Given the description of an element on the screen output the (x, y) to click on. 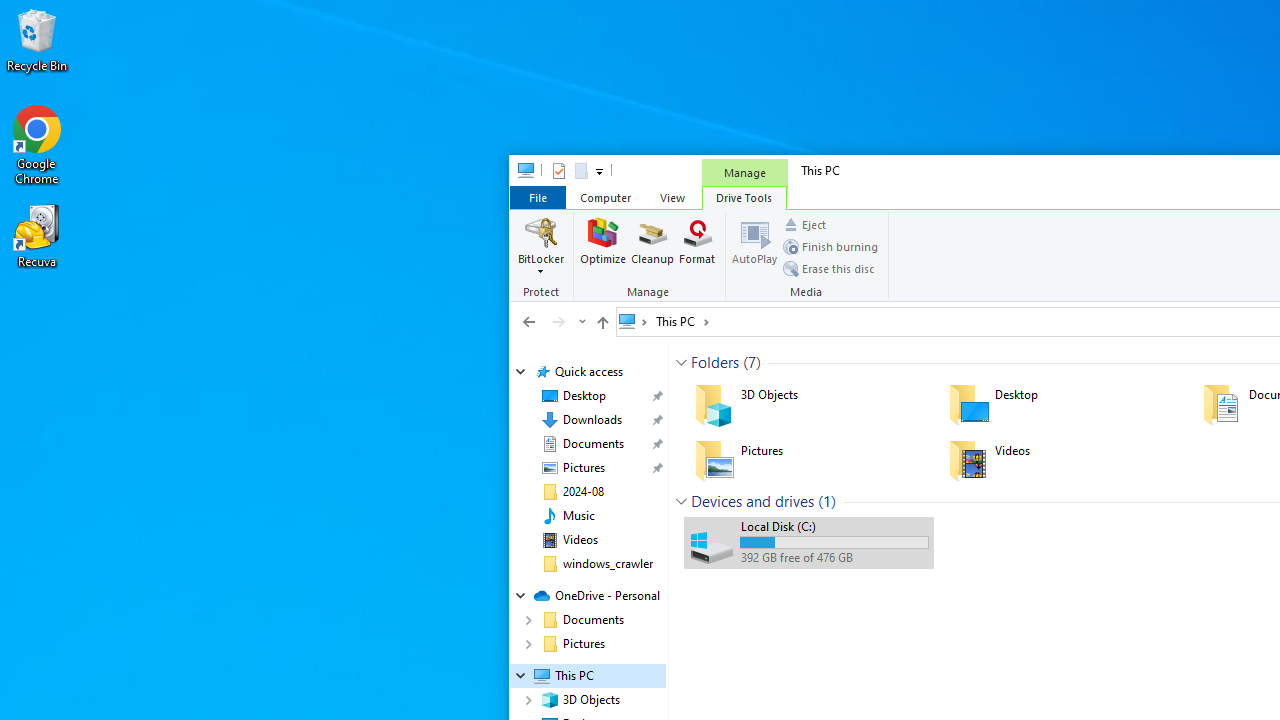
Desktop (1062, 403)
Up band toolbar (602, 325)
Local Disk (C:) (808, 542)
Properties (558, 169)
Navigation buttons (552, 321)
All locations (633, 321)
Name (834, 526)
System (520, 173)
Media (808, 255)
Finish burning (830, 246)
File tab (537, 196)
Documents (pinned) (592, 443)
Drive Tools (744, 196)
Downloads (pinned) (592, 420)
Desktop (pinned) (584, 395)
